Given the description of an element on the screen output the (x, y) to click on. 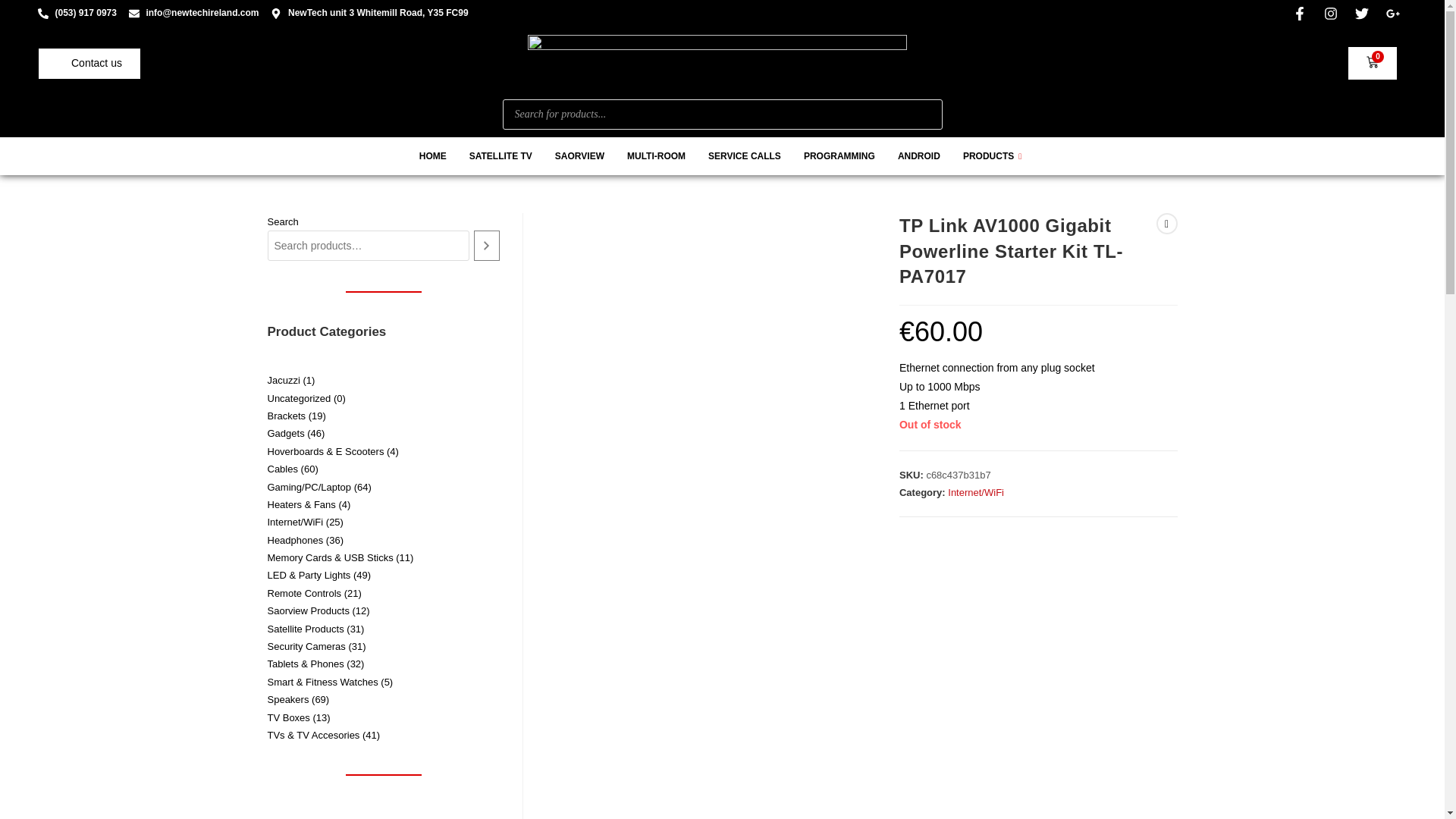
SATELLITE TV (500, 156)
PROGRAMMING (839, 156)
SERVICE CALLS (744, 156)
0 (1372, 62)
PRODUCTS (994, 156)
ANDROID (919, 156)
Contact us (89, 62)
HOME (432, 156)
MULTI-ROOM (656, 156)
SAORVIEW (579, 156)
